Given the description of an element on the screen output the (x, y) to click on. 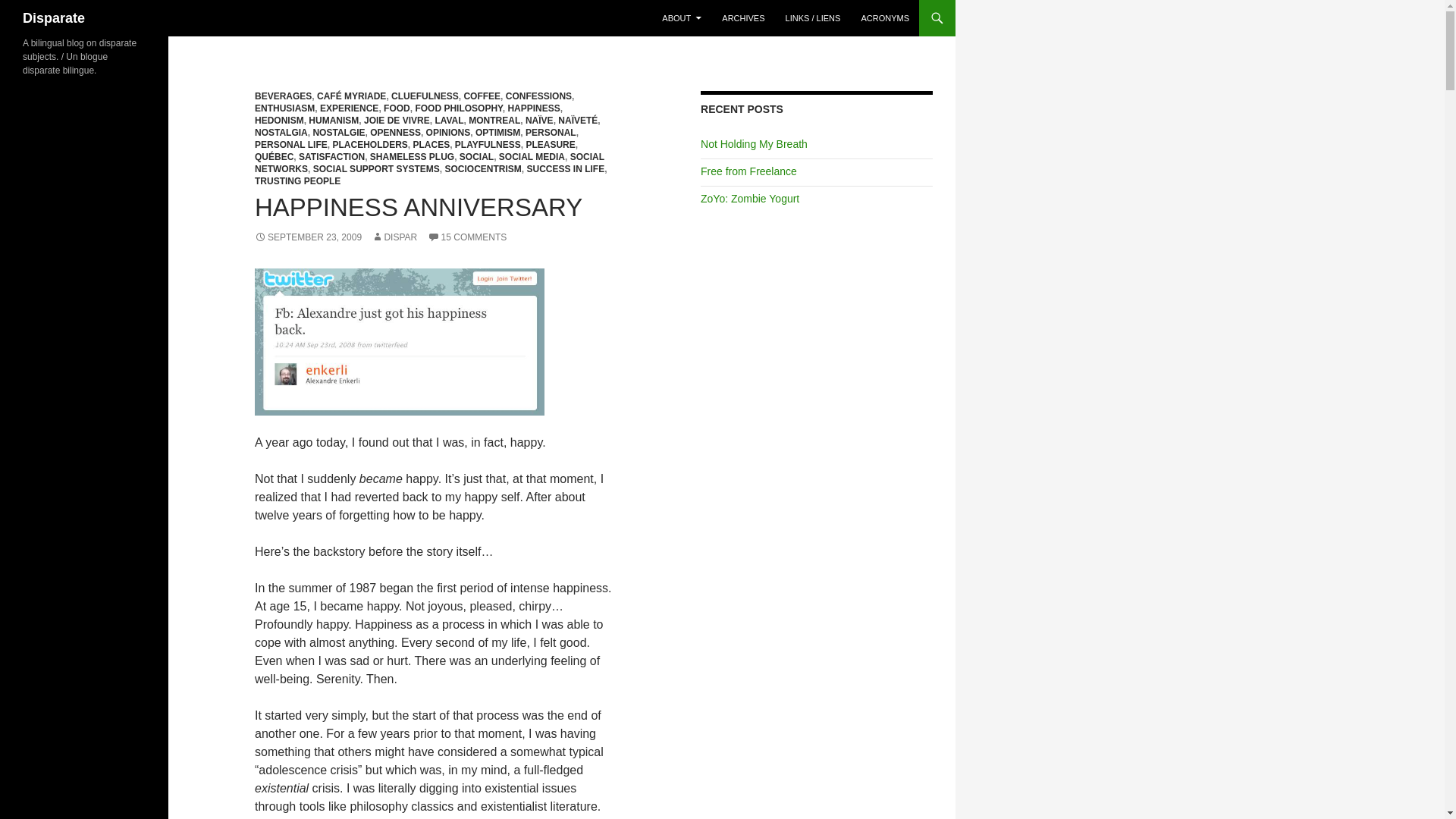
OPINIONS (448, 132)
PERSONAL LIFE (290, 144)
NOSTALGIE (339, 132)
ENTHUSIASM (284, 108)
FOOD (397, 108)
BEVERAGES (282, 95)
MONTREAL (493, 120)
LAVAL (448, 120)
ACRONYMS (884, 18)
HEDONISM (279, 120)
